Given the description of an element on the screen output the (x, y) to click on. 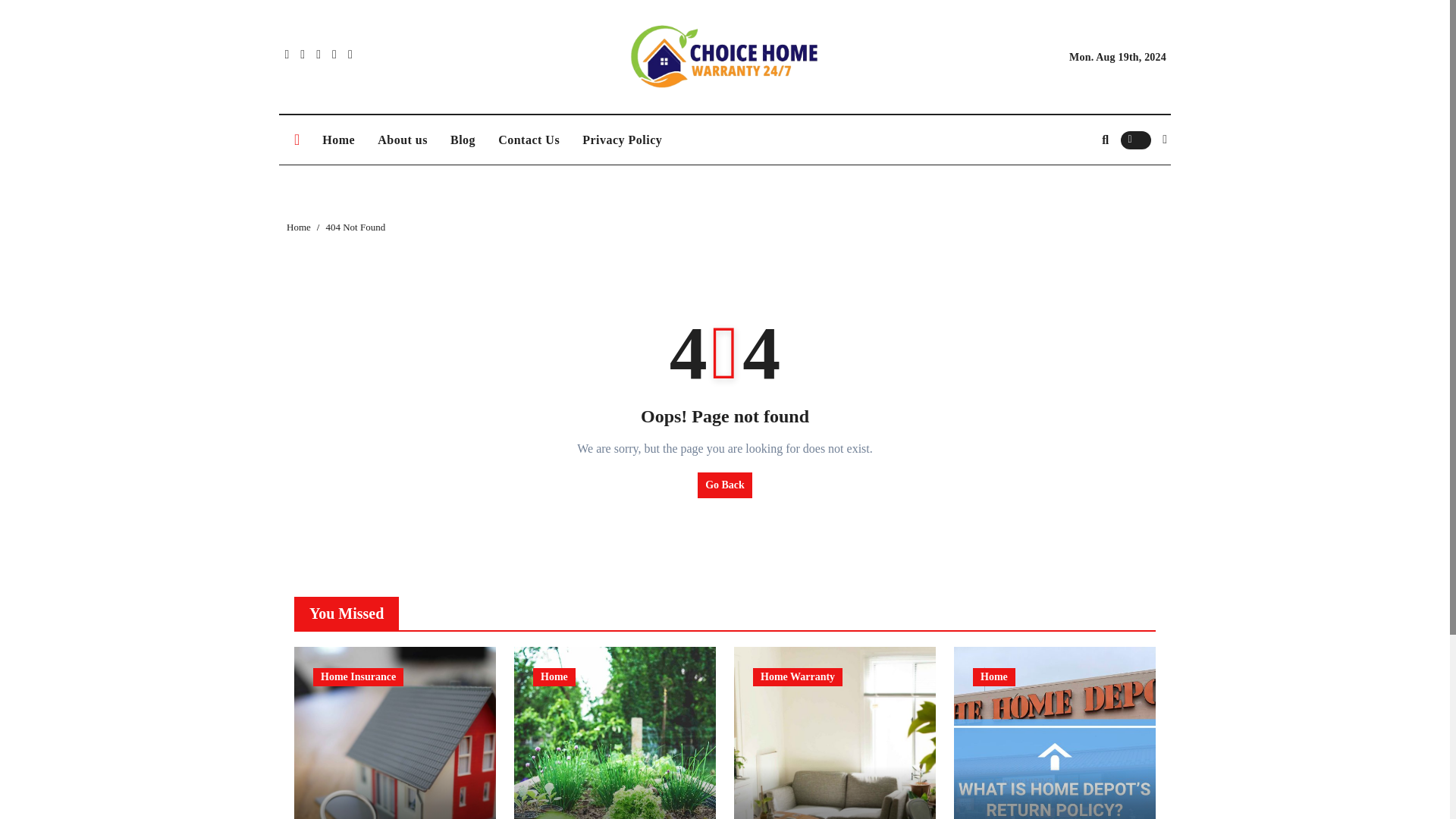
Privacy Policy (621, 139)
Home (993, 677)
Home Insurance (358, 677)
Home Warranty (797, 677)
Home (553, 677)
Blog (462, 139)
Go Back (724, 484)
Contact Us (528, 139)
Home (338, 139)
Home (298, 226)
